Given the description of an element on the screen output the (x, y) to click on. 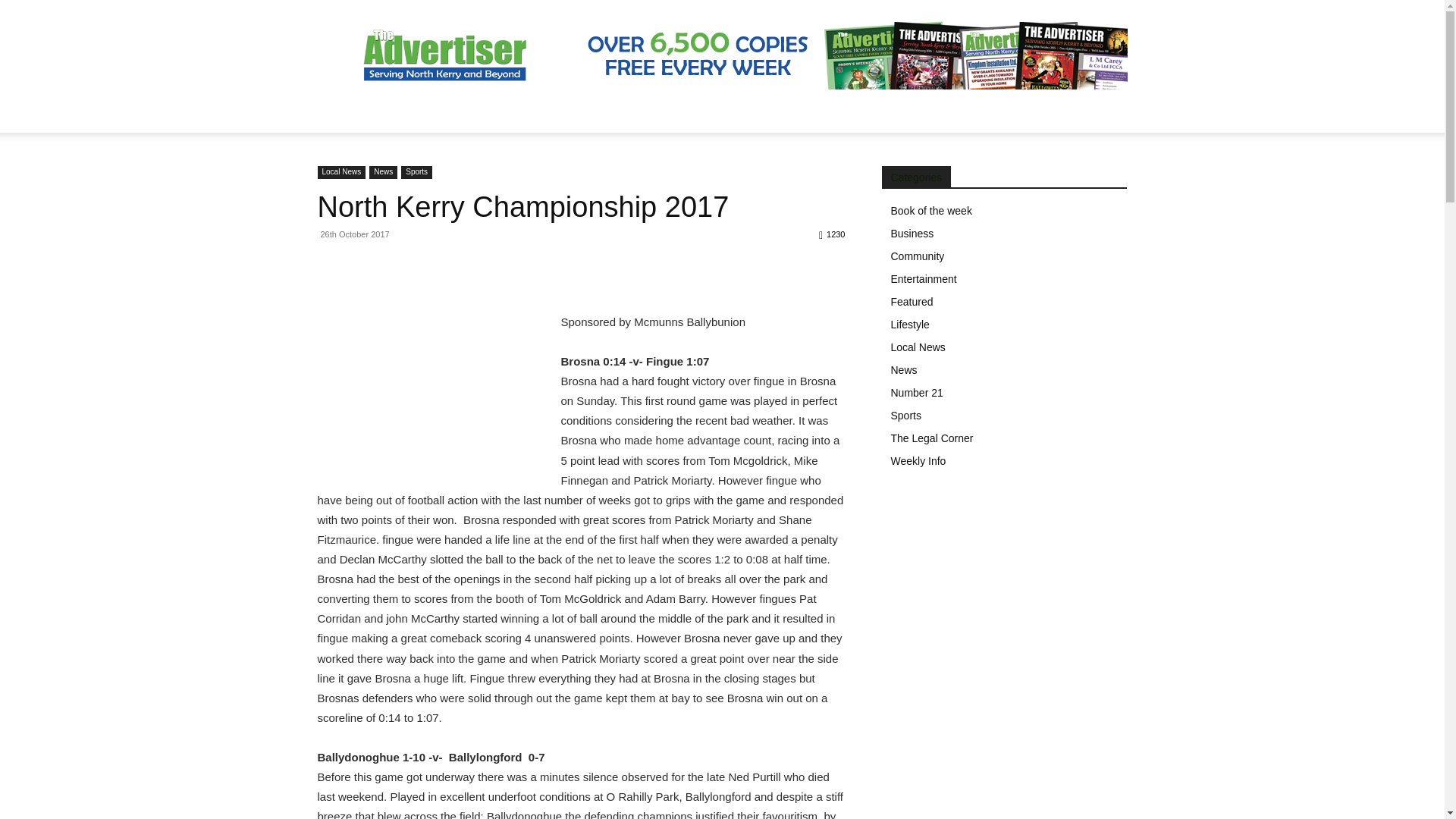
HOME (343, 114)
BUSINESS (525, 114)
Sports (416, 172)
SPORTS (455, 114)
Search (1085, 174)
CURRENT ISSUE (729, 114)
ENTERTAINMENT (619, 114)
AD RATES (821, 114)
CONTACT US (1011, 114)
CLASSIFIED ADS (911, 114)
